Given the description of an element on the screen output the (x, y) to click on. 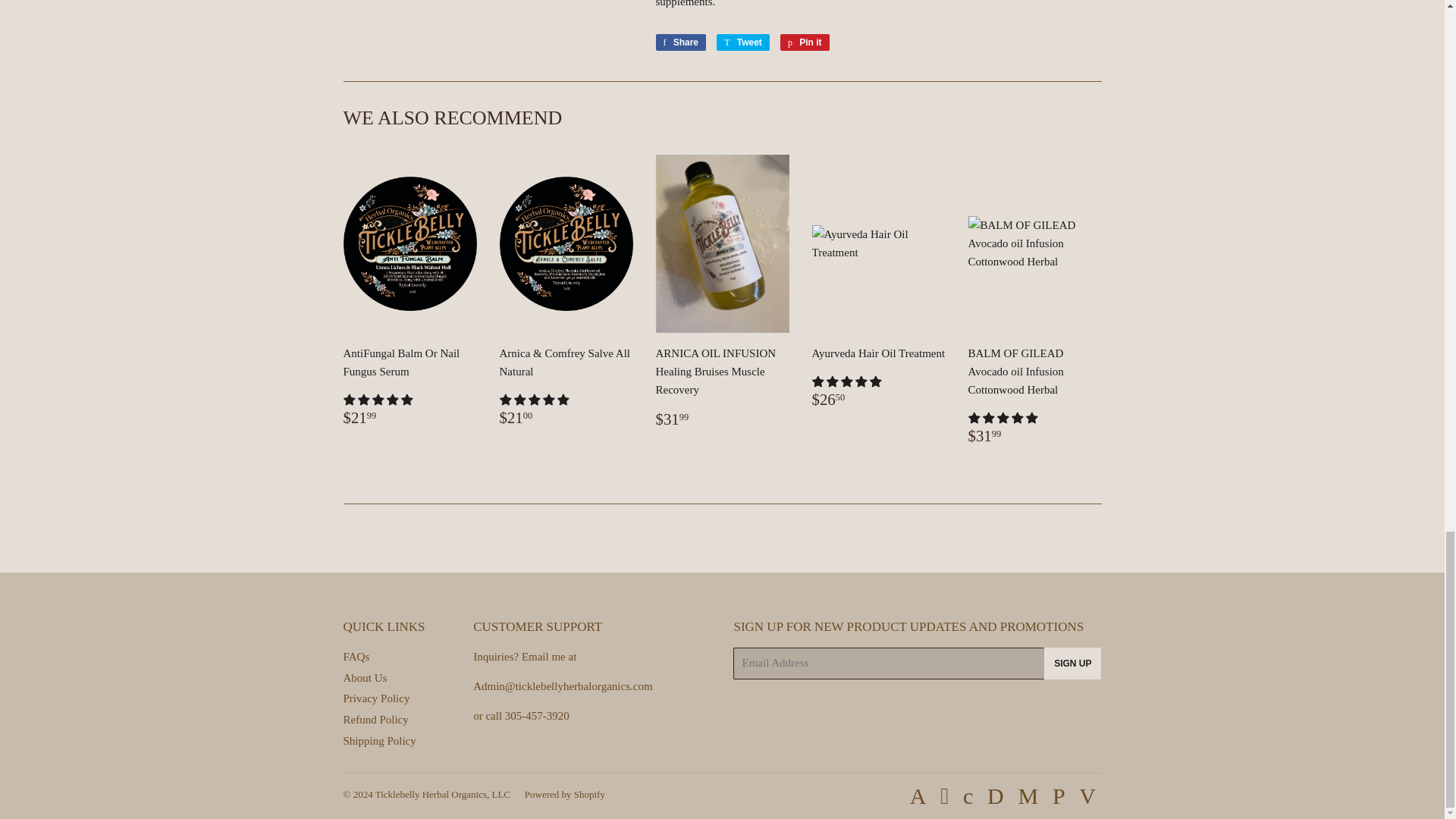
SIGN UP (680, 42)
FAQs (1071, 663)
Shipping Policy (355, 656)
Privacy Policy (378, 740)
Share on Facebook (743, 42)
Powered by Shopify (375, 698)
Tweet on Twitter (680, 42)
